Given the description of an element on the screen output the (x, y) to click on. 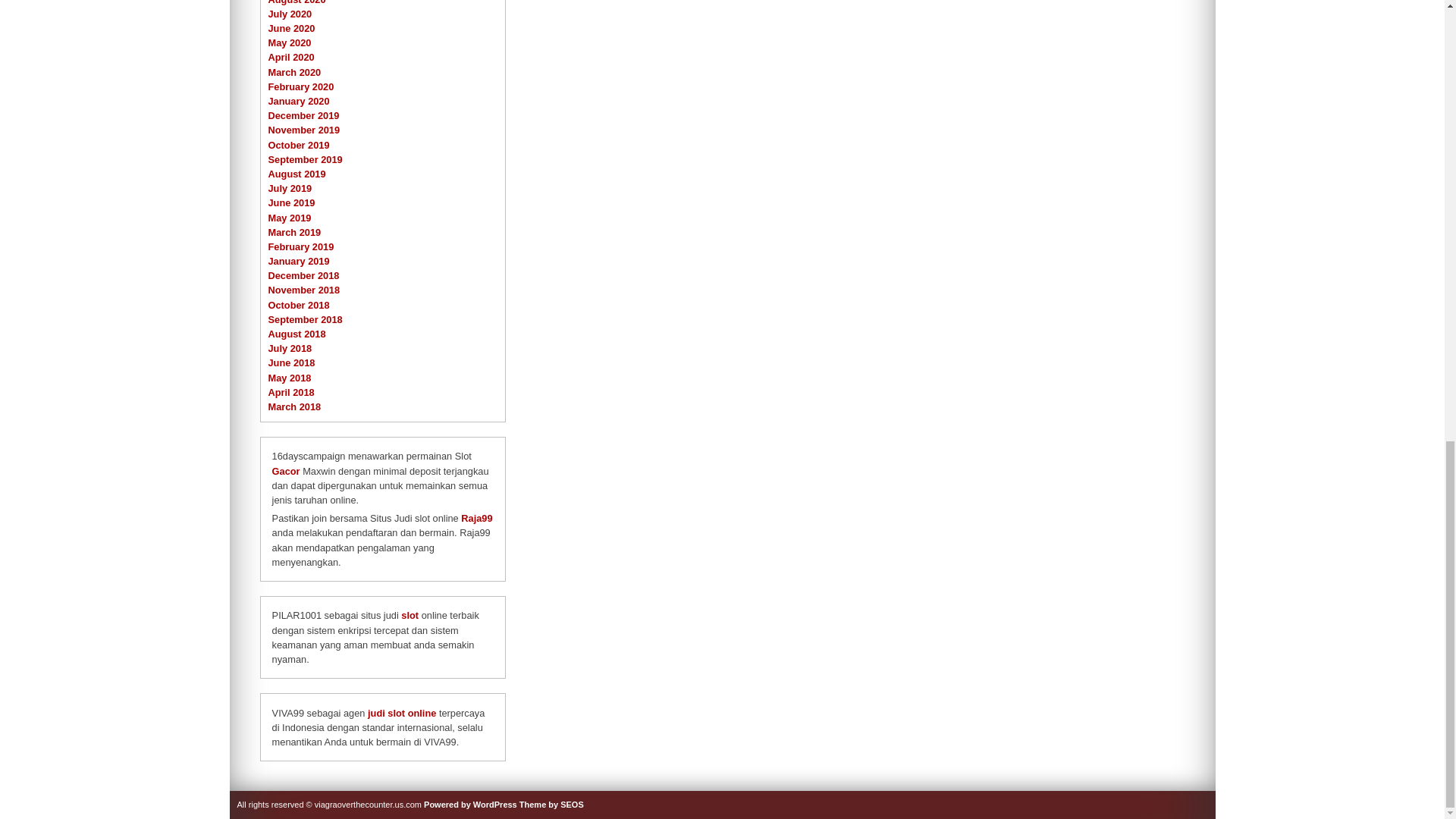
Seos free wordpress themes (551, 804)
